Given the description of an element on the screen output the (x, y) to click on. 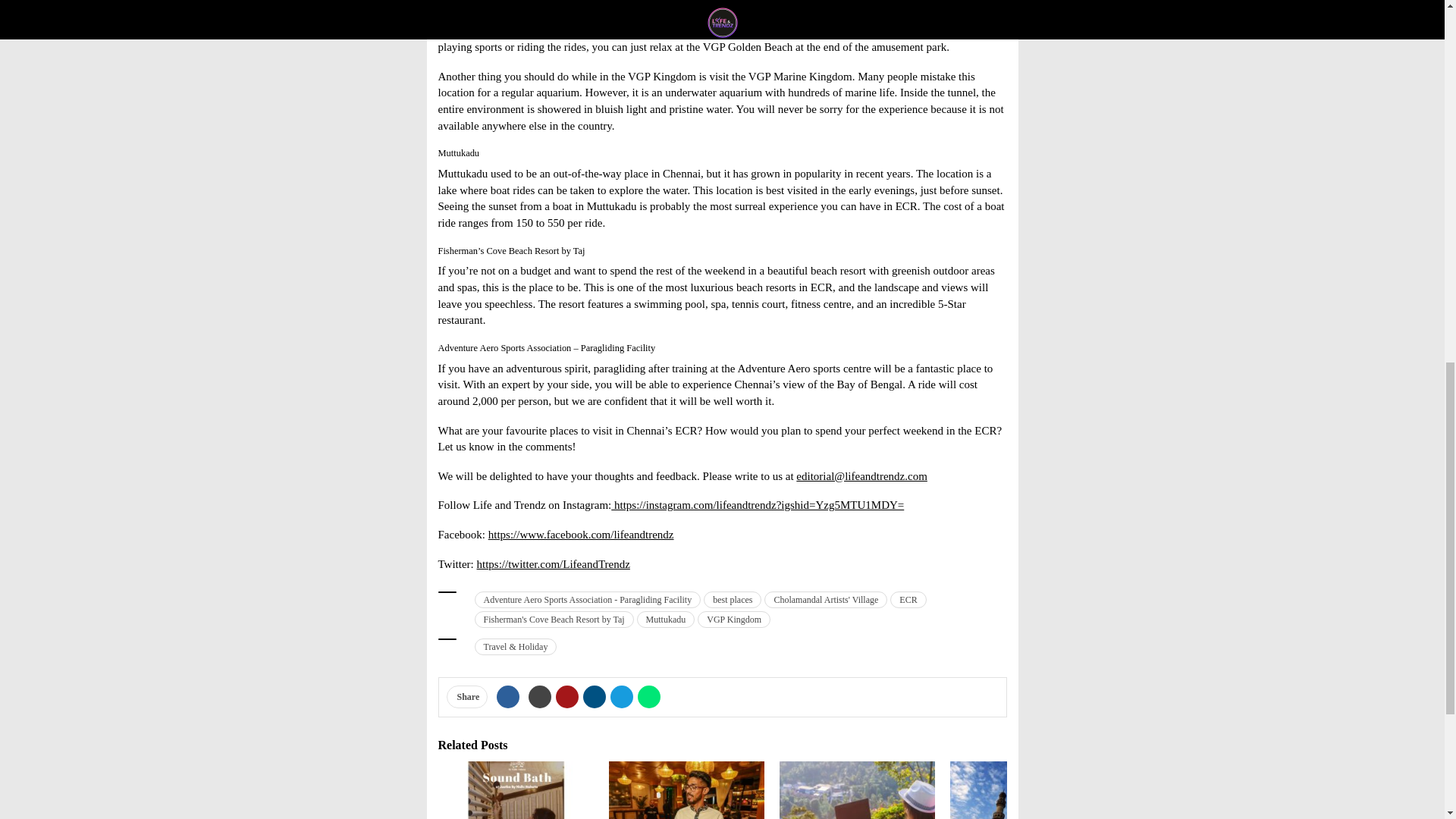
Adventure Aero Sports Association - Paragliding Facility (587, 599)
How To Choose A City For A Digital Nomad Life? (856, 790)
Muttukadu (666, 619)
VGP Kingdom (733, 619)
Cholamandal Artists' Village (825, 599)
ECR (907, 599)
best places (732, 599)
Fisherman's Cove Beach Resort by Taj (553, 619)
Sound Bath Meditation at Justbe by Nidhi Nahata (516, 790)
